Given the description of an element on the screen output the (x, y) to click on. 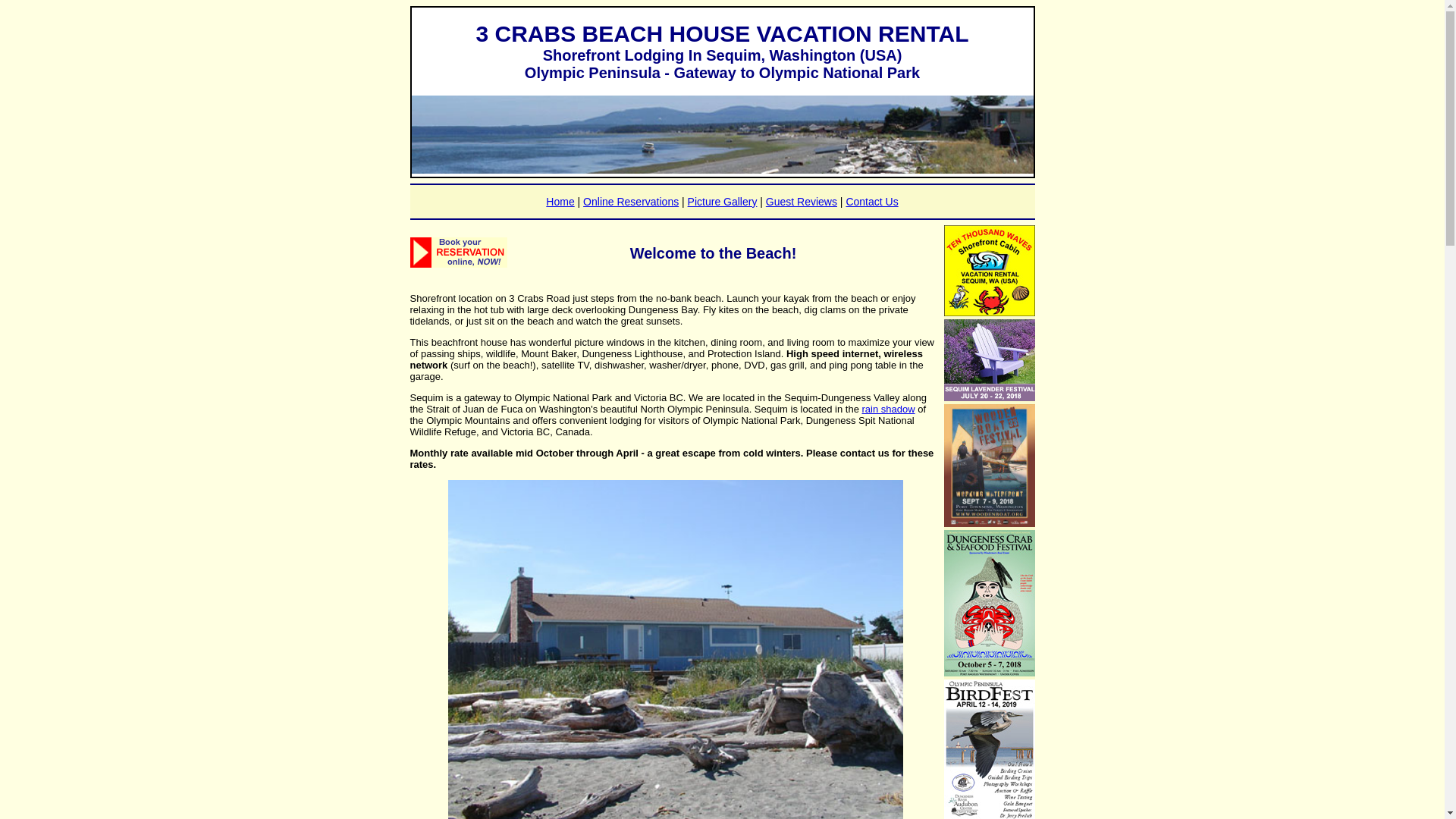
Online Reservations Element type: text (630, 201)
Guest Reviews Element type: text (801, 201)
rain shadow Element type: text (887, 408)
Home Element type: text (560, 201)
Picture Gallery Element type: text (722, 201)
Contact Us Element type: text (871, 201)
